Given the description of an element on the screen output the (x, y) to click on. 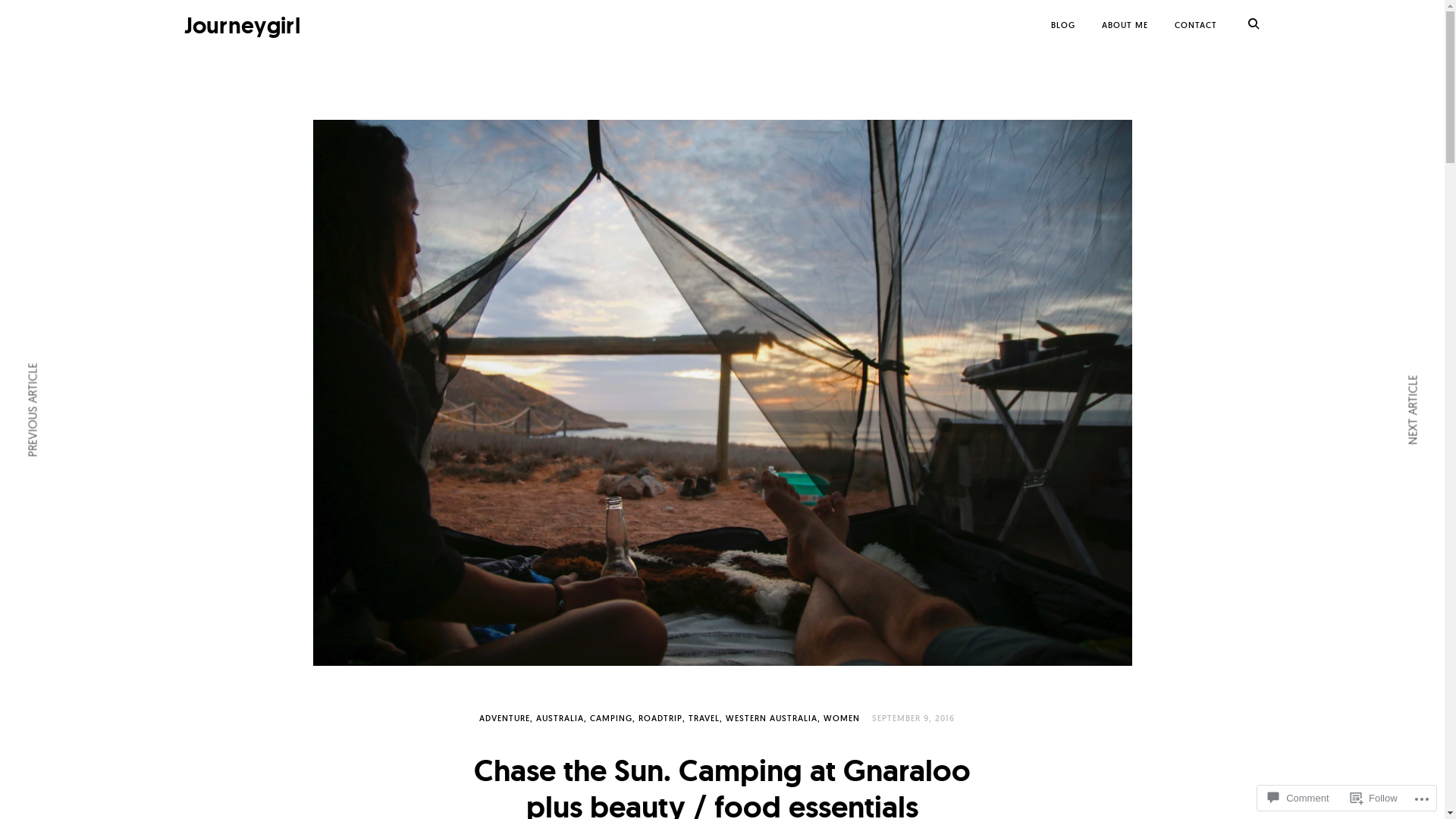
CONTACT Element type: text (1194, 24)
CAMPING Element type: text (612, 717)
WOMEN Element type: text (841, 717)
TRAVEL Element type: text (705, 717)
Follow Element type: text (1373, 797)
ABOUT ME Element type: text (1124, 24)
Comment Element type: text (1297, 797)
SEPTEMBER 9, 2016 Element type: text (913, 717)
Search Element type: text (51, 17)
Journeygirl Element type: text (241, 25)
ROADTRIP Element type: text (661, 717)
WESTERN AUSTRALIA Element type: text (772, 717)
AUSTRALIA Element type: text (561, 717)
ADVENTURE Element type: text (506, 717)
BLOG Element type: text (1063, 24)
